Given the description of an element on the screen output the (x, y) to click on. 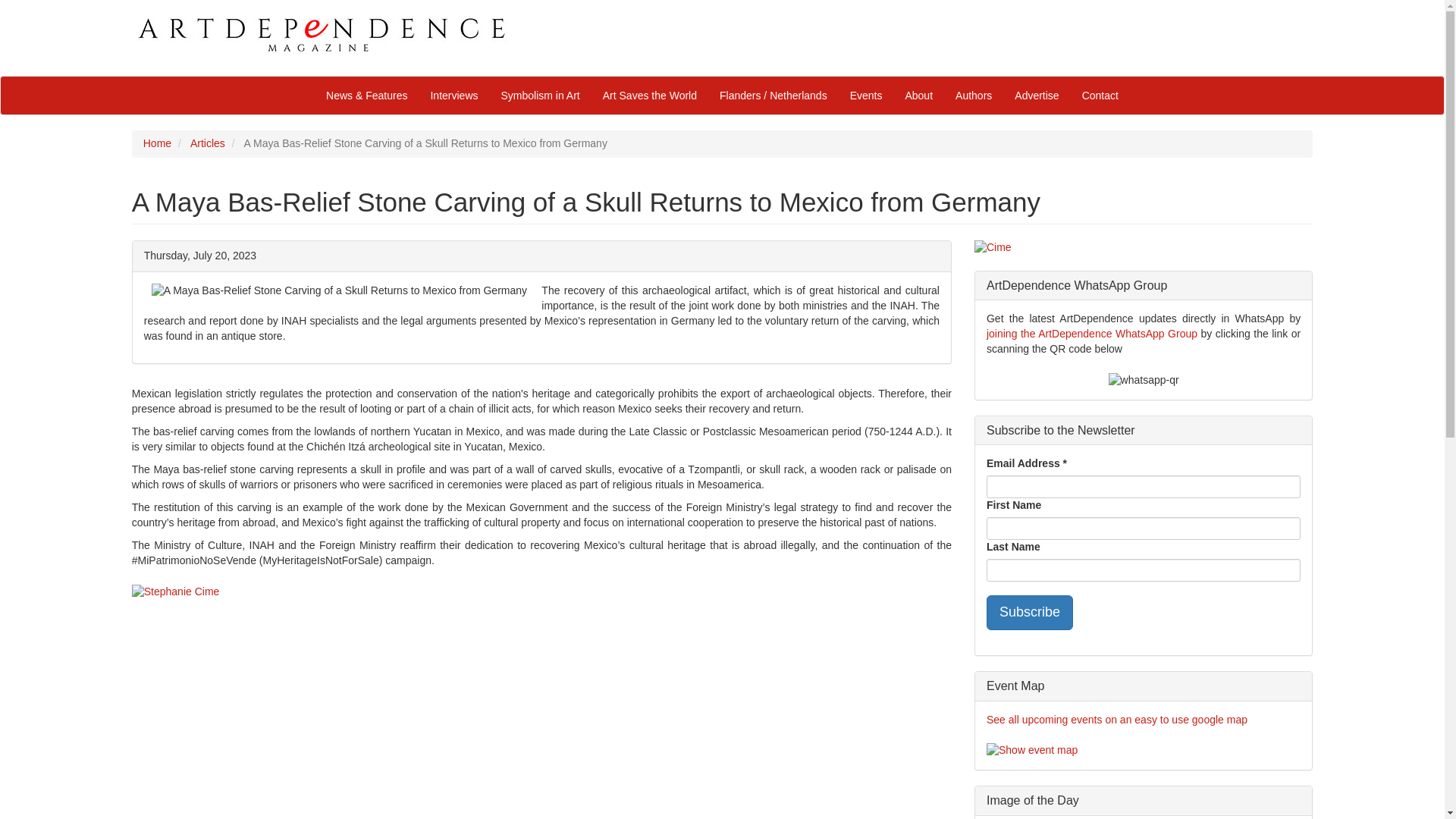
See all upcoming events on an easy to use google map (1117, 719)
About (918, 95)
joining the ArtDependence WhatsApp Group (1091, 333)
Symbolism in Art (540, 95)
Subscribe (1030, 612)
Art Saves the World (649, 95)
Events (865, 95)
Home (156, 143)
Authors (973, 95)
Articles (207, 143)
Contact (1099, 95)
Interviews (454, 95)
Advertise (1036, 95)
Subscribe (1030, 612)
WhatsApp (1091, 333)
